Given the description of an element on the screen output the (x, y) to click on. 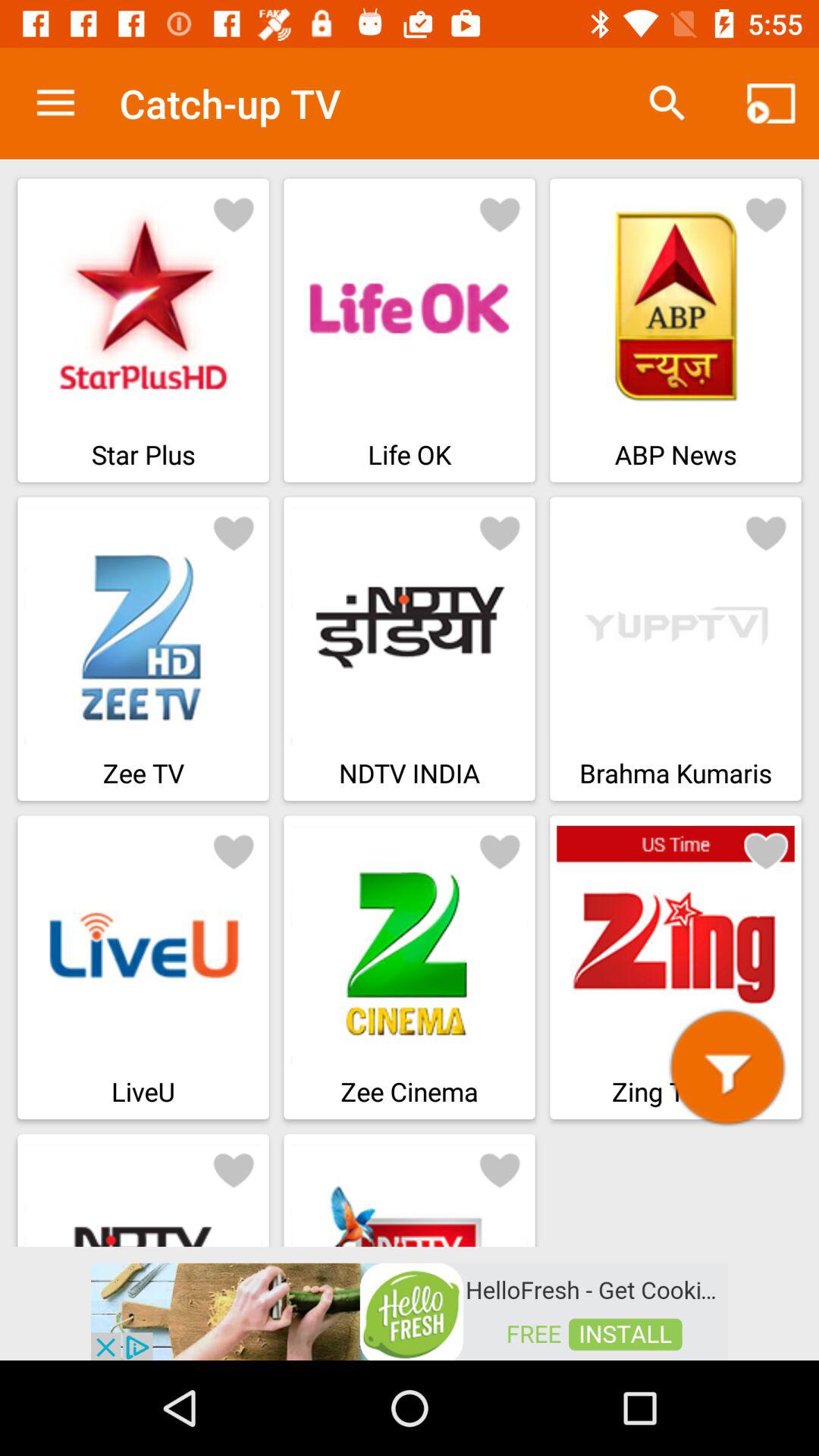
this zing button (727, 1067)
